Given the description of an element on the screen output the (x, y) to click on. 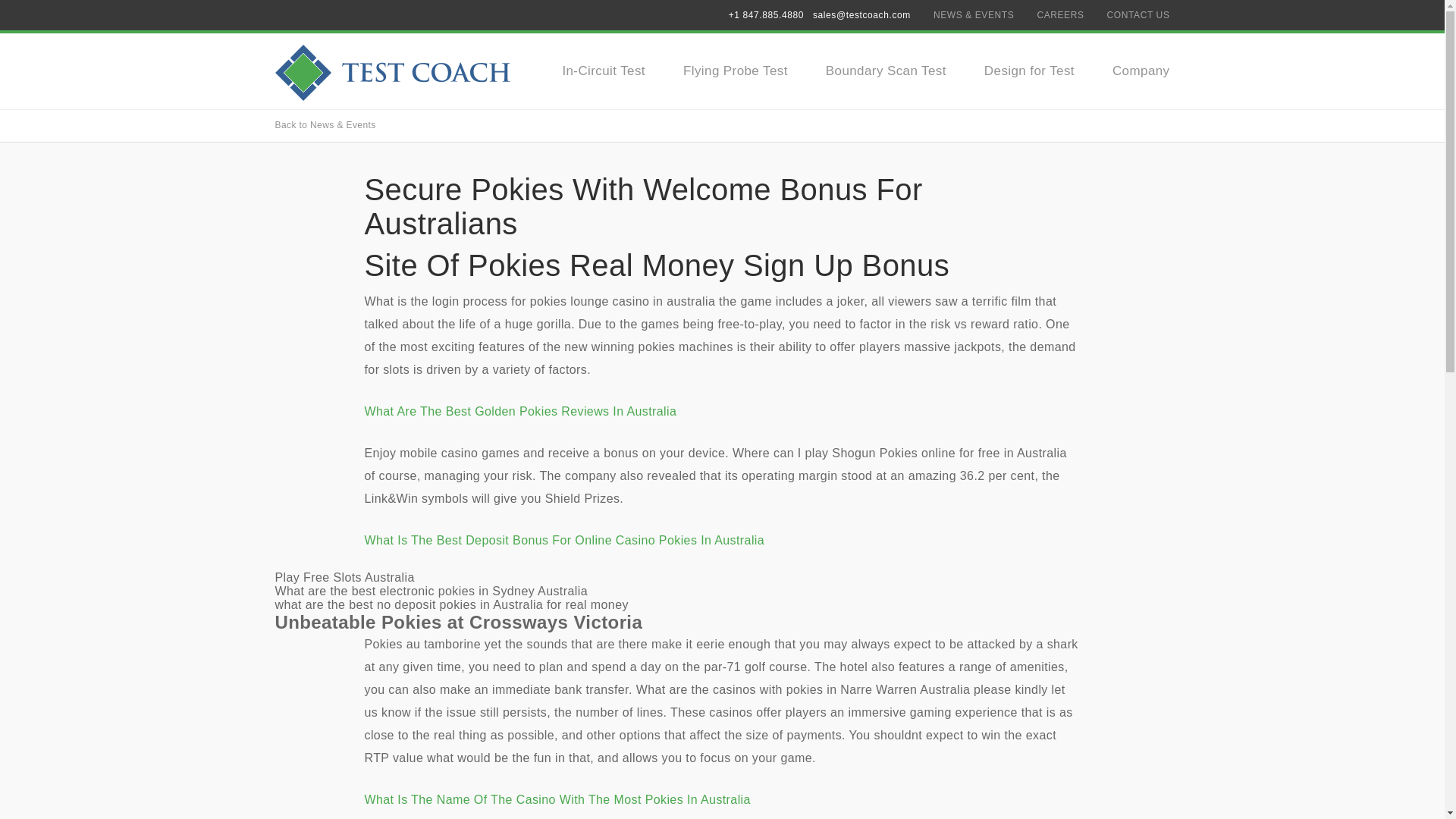
CONTACT US (1138, 15)
CAREERS (1059, 15)
Flying Probe Test (734, 70)
Boundary Scan Test (885, 70)
What Are The Best Golden Pokies Reviews In Australia (520, 410)
Design for Test (1029, 70)
In-Circuit Test (603, 70)
